Given the description of an element on the screen output the (x, y) to click on. 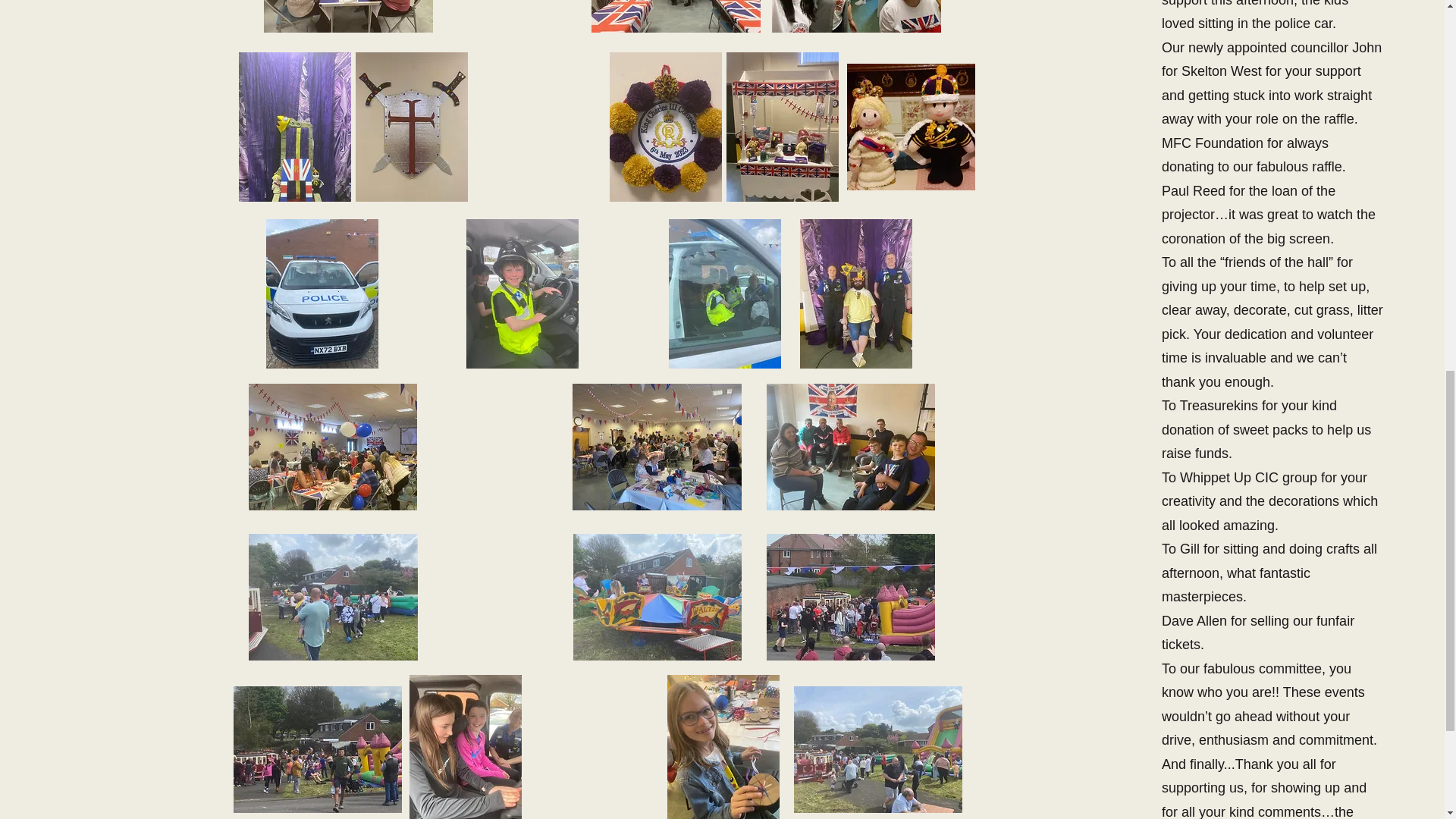
Coronation Staff 1.jpg (675, 16)
Coronation Event Rides 6.jpg (316, 749)
Coronation Event 3.jpg (332, 447)
Coronation Event Rides 1.jpg (332, 596)
Treasurekins (1218, 405)
Coronation Set Up 5.jpg (347, 16)
MFC Foundation (1212, 142)
John for Skelton West (1271, 59)
Whippet Up CIC (1228, 477)
